Given the description of an element on the screen output the (x, y) to click on. 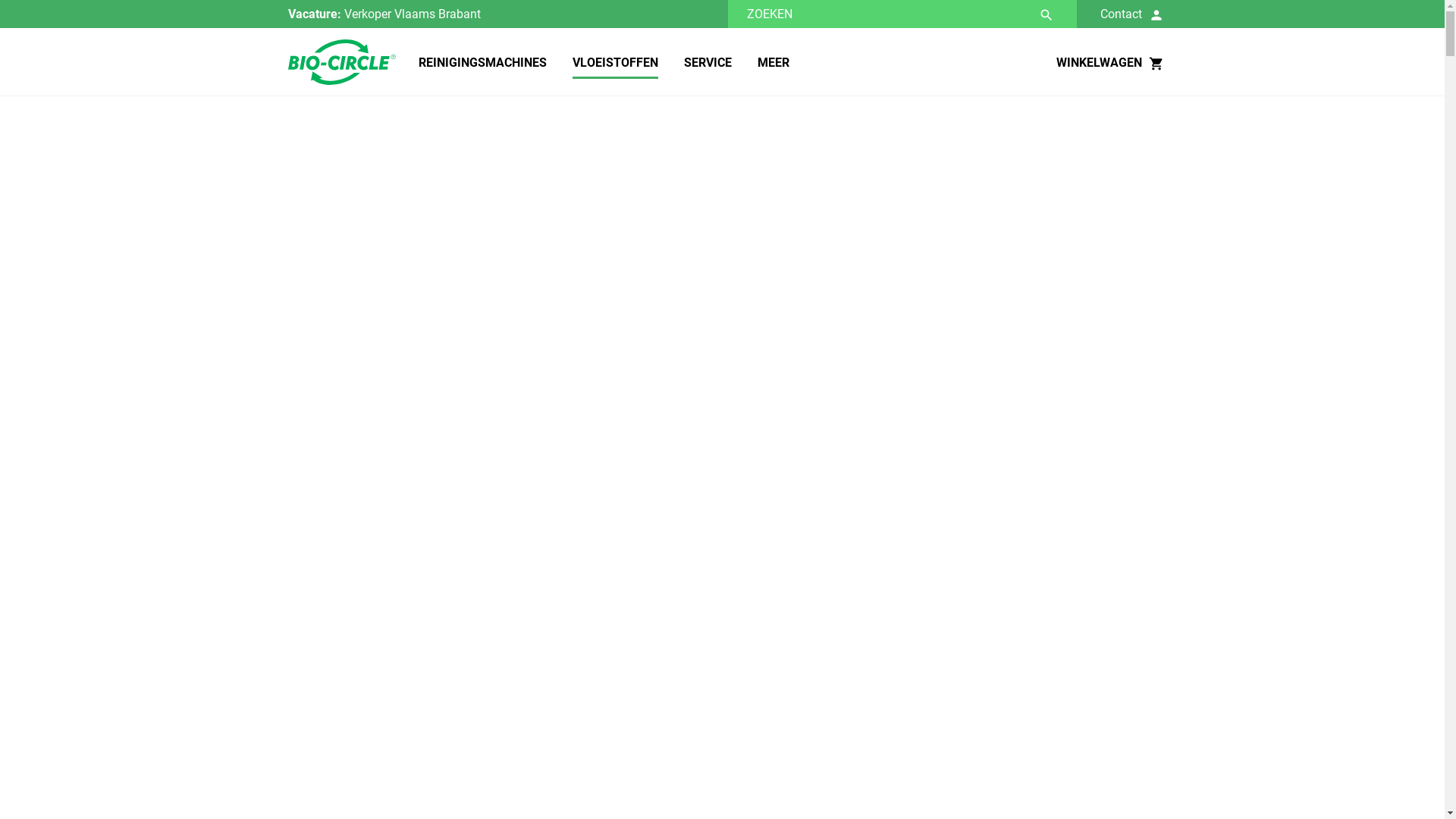
Vacature: Verkoper Vlaams Brabant Element type: text (508, 14)
Inox reinigen Element type: text (352, 370)
Vloerreinigers Element type: text (352, 472)
Residuloos reinigen Element type: text (352, 233)
MEER Element type: text (761, 62)
Allesreinigers Element type: text (352, 267)
Reinigen tegen virussen Element type: text (352, 404)
Handzeep Element type: text (352, 438)
MEER INFO chevron_right Element type: text (562, 766)
add_shopping_cart
chevron_right Element type: text (702, 766)
REINIGINGSMACHINES Element type: text (470, 62)
search Element type: text (1046, 14)
Vloeistoffen Element type: text (362, 123)
Snij-koelvloeistof Element type: text (352, 540)
Ontroesters Element type: text (352, 301)
Ontvetters Element type: text (352, 166)
E-Weld Element type: text (352, 574)
SERVICE Element type: text (696, 62)
ONTVETTERS Element type: text (503, 166)
Lakverwijdereaars Element type: text (352, 199)
Lijmverwijderaars Element type: text (352, 506)
MEER INFO chevron_right Element type: text (562, 466)
home Element type: text (293, 123)
WINKELWAGEN
shopping_cart Element type: text (1111, 62)
Kruipolie Element type: text (352, 336)
add_shopping_cart
chevron_right Element type: text (702, 466)
VLOEISTOFFEN Element type: text (603, 62)
